Given the description of an element on the screen output the (x, y) to click on. 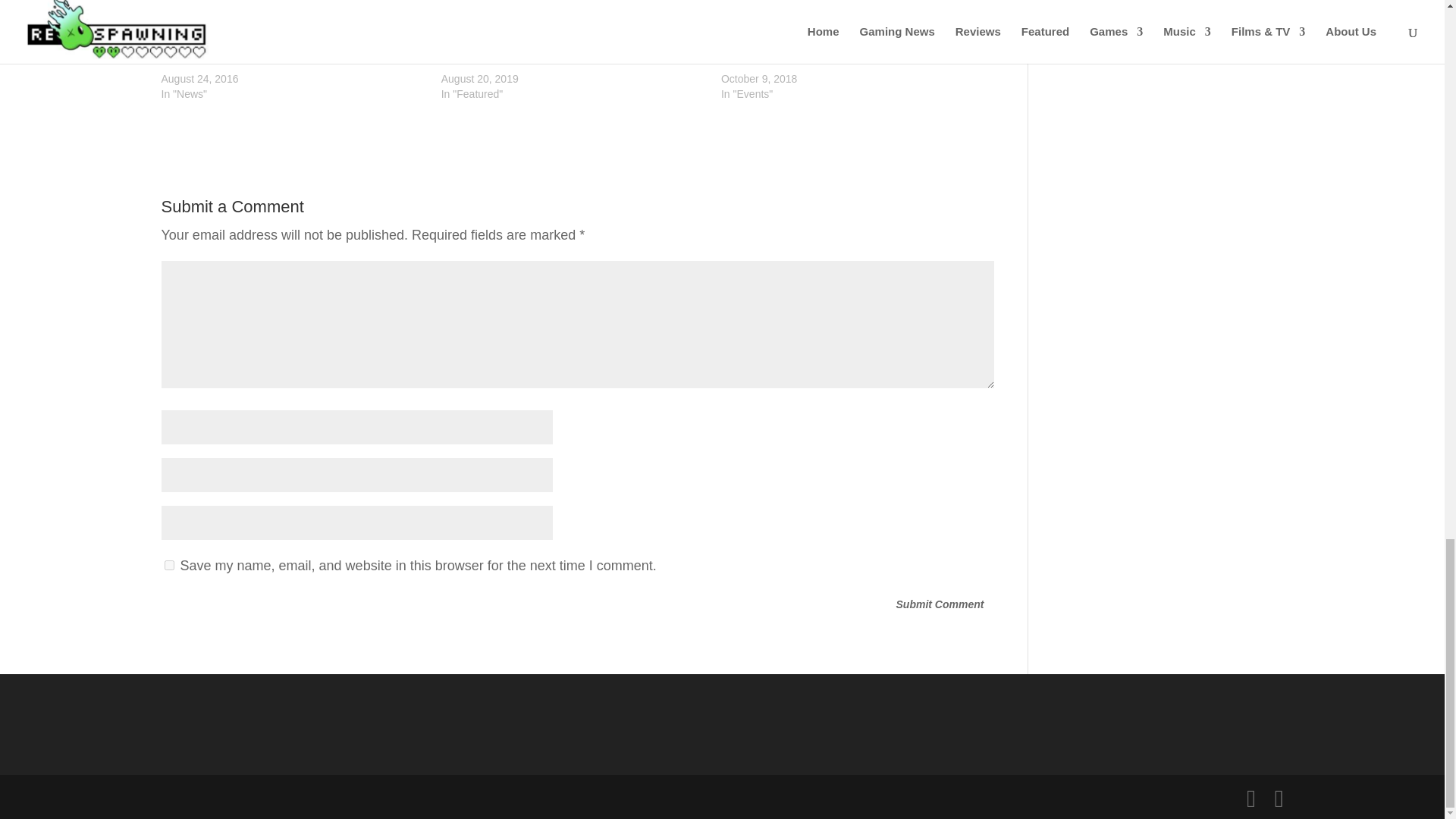
Glitched Overwatch Post Appears To Be Counting Down (292, 24)
Overwatch Halloween: Unlockables and Checklist! (839, 55)
Overwatch: Introducing Sigma and how to counter him (569, 55)
yes (168, 565)
Glitched Overwatch Post Appears To Be Counting Down (292, 55)
Overwatch: Introducing Sigma and how to counter him (573, 24)
Submit Comment (939, 604)
Overwatch Halloween: Unlockables and Checklist! (852, 24)
